Given the description of an element on the screen output the (x, y) to click on. 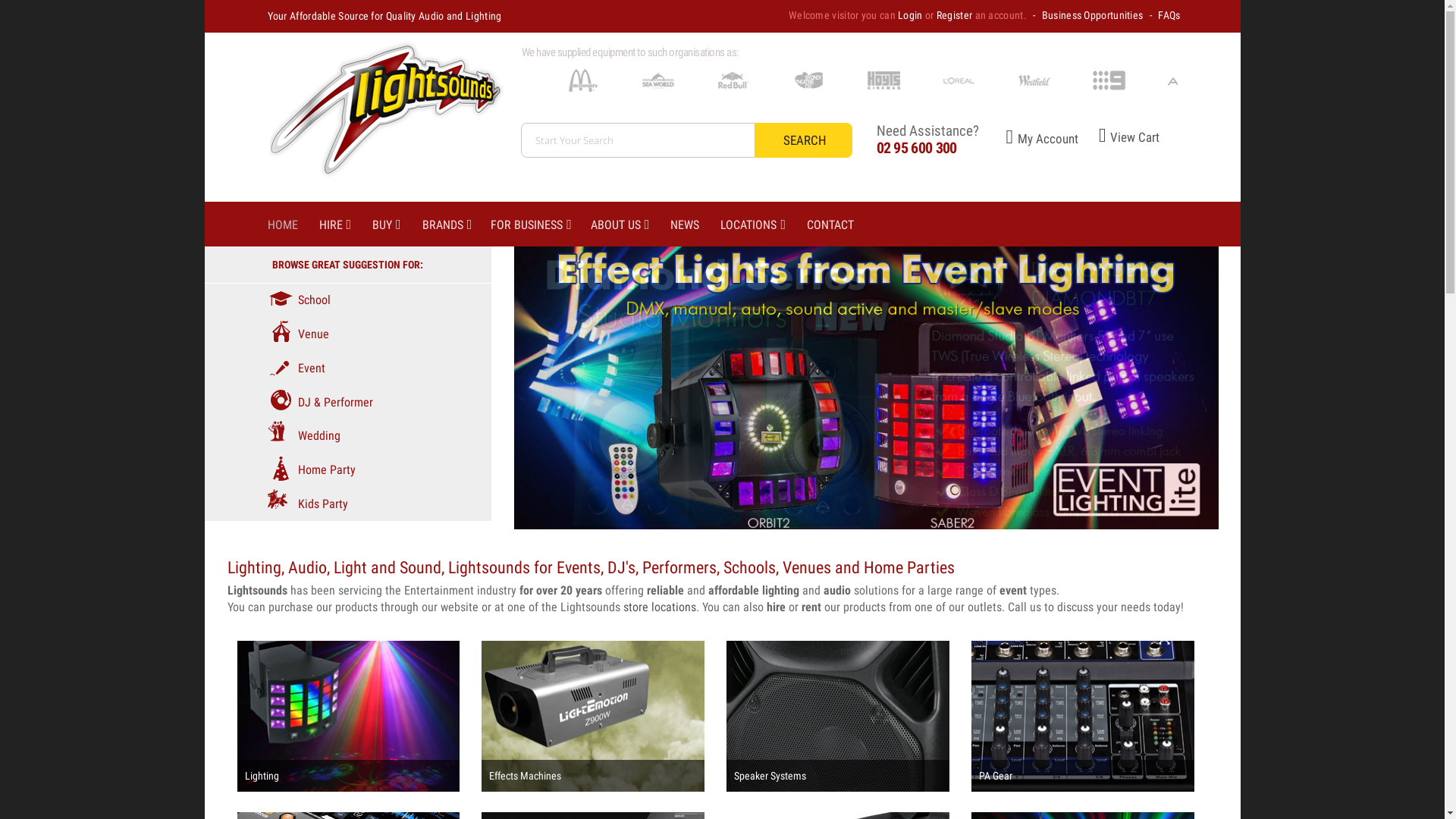
HOME Element type: text (292, 224)
BRANDS Element type: text (456, 224)
CONTACT Element type: text (840, 224)
School Element type: text (297, 299)
SEARCH Element type: text (803, 139)
HIRE Element type: text (345, 224)
NEWS Element type: text (695, 224)
Wedding Element type: text (302, 435)
DJ & Performer Element type: text (319, 402)
FAQs Element type: text (1168, 15)
View Cart Element type: text (1118, 136)
Venue Element type: text (297, 333)
02 95 600 300 Element type: text (916, 147)
Register Element type: text (954, 15)
My Account Element type: text (1028, 138)
BUY Element type: text (397, 224)
Business Opportunities Element type: text (1092, 15)
Lightsounds Element type: hover (380, 116)
Event Element type: text (295, 367)
Login Element type: text (909, 15)
store locations Element type: text (659, 606)
ABOUT US Element type: text (630, 224)
Home Party Element type: text (310, 469)
Kids Party Element type: text (306, 503)
LOCATIONS Element type: text (763, 224)
FOR BUSINESS Element type: text (540, 224)
